Given the description of an element on the screen output the (x, y) to click on. 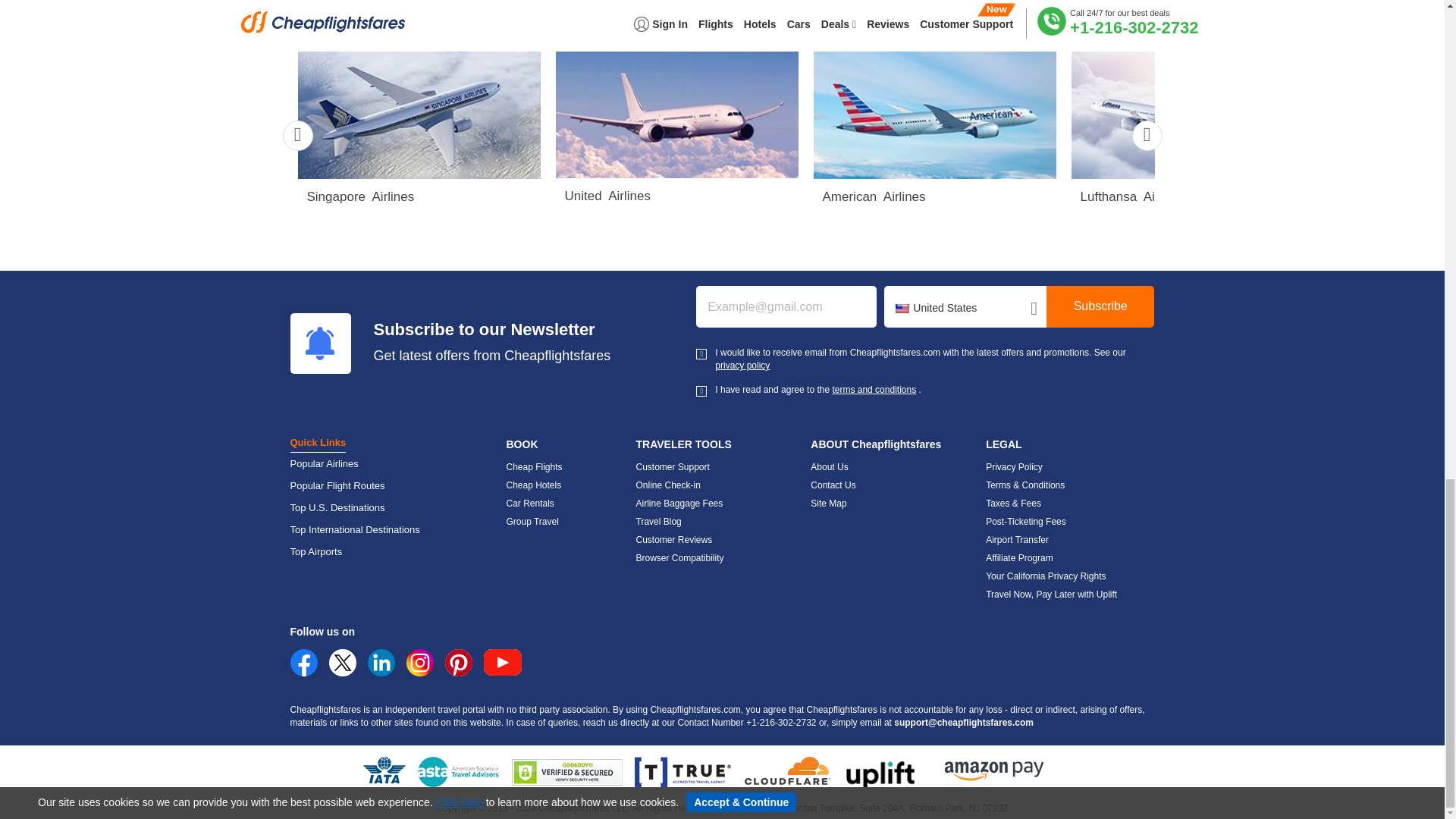
Facebook (303, 672)
Instagram (419, 662)
Twitter (342, 662)
pinterest (457, 662)
Linked In (380, 662)
Youtube (502, 662)
